Given the description of an element on the screen output the (x, y) to click on. 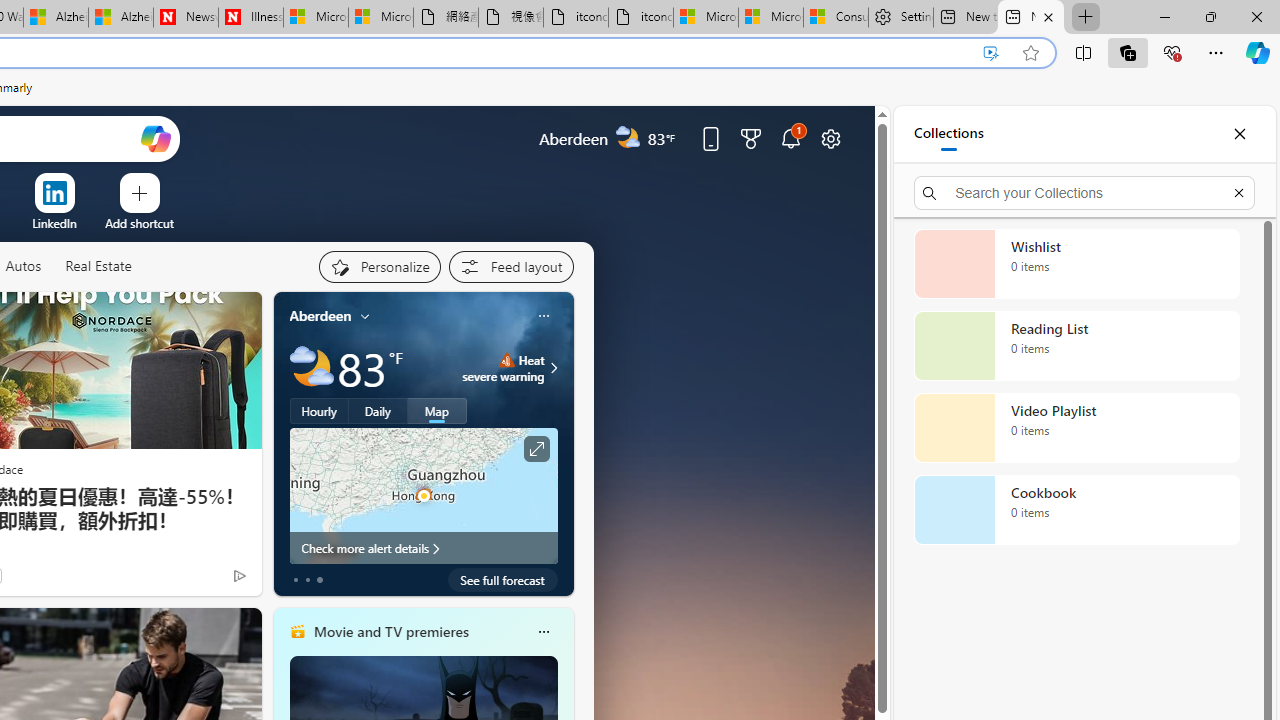
Wishlist collection, 0 items (1076, 263)
Autos (22, 265)
Map (437, 411)
Enhance video (991, 53)
LinkedIn (54, 223)
Movie and TV premieres (390, 631)
Check more alert details (423, 547)
You're following MSNBC (197, 579)
Partly cloudy (311, 368)
Consumer Health Data Privacy Policy (835, 17)
